Given the description of an element on the screen output the (x, y) to click on. 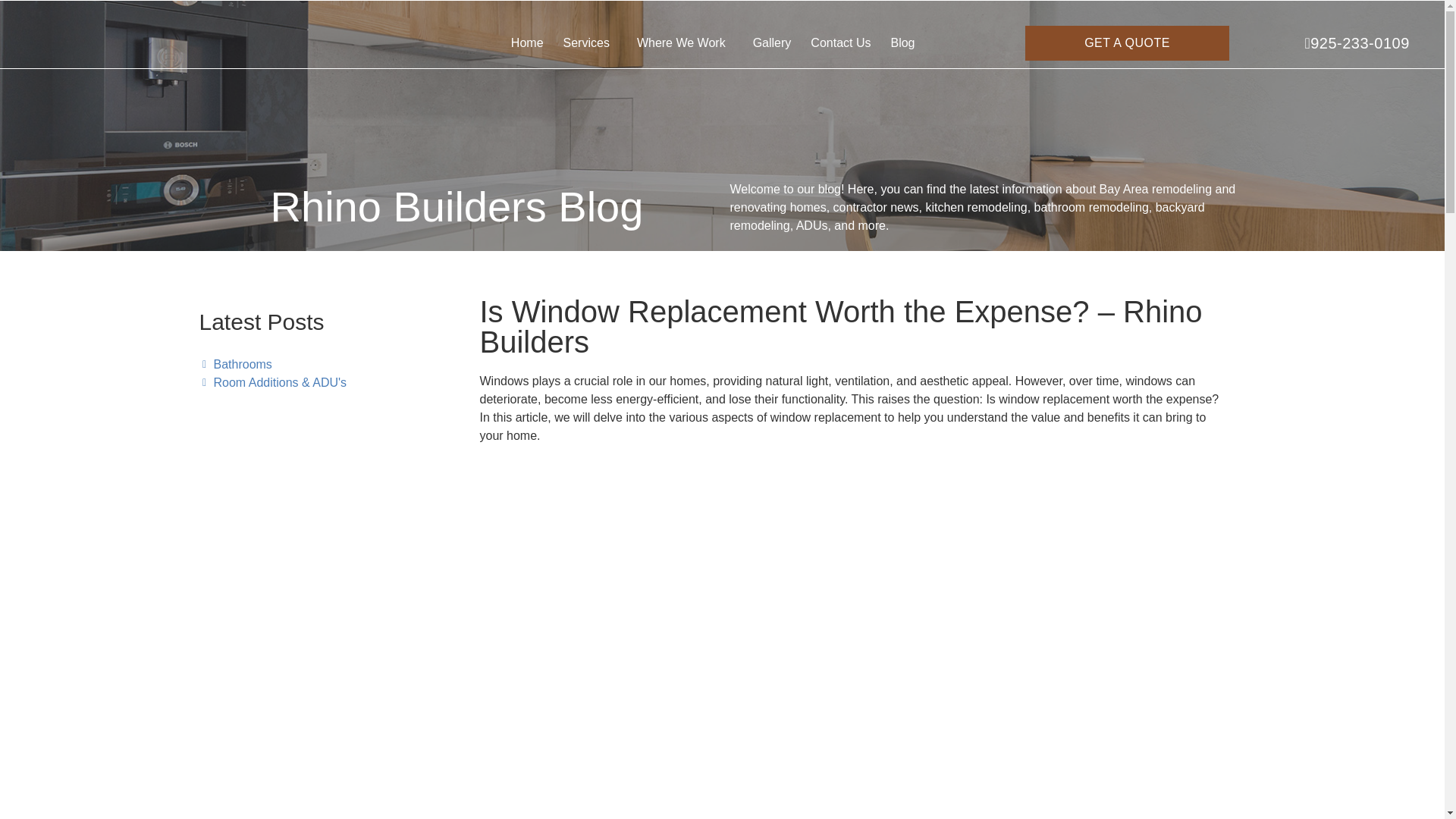
Home (526, 42)
Services (590, 42)
Where We Work (684, 42)
